Given the description of an element on the screen output the (x, y) to click on. 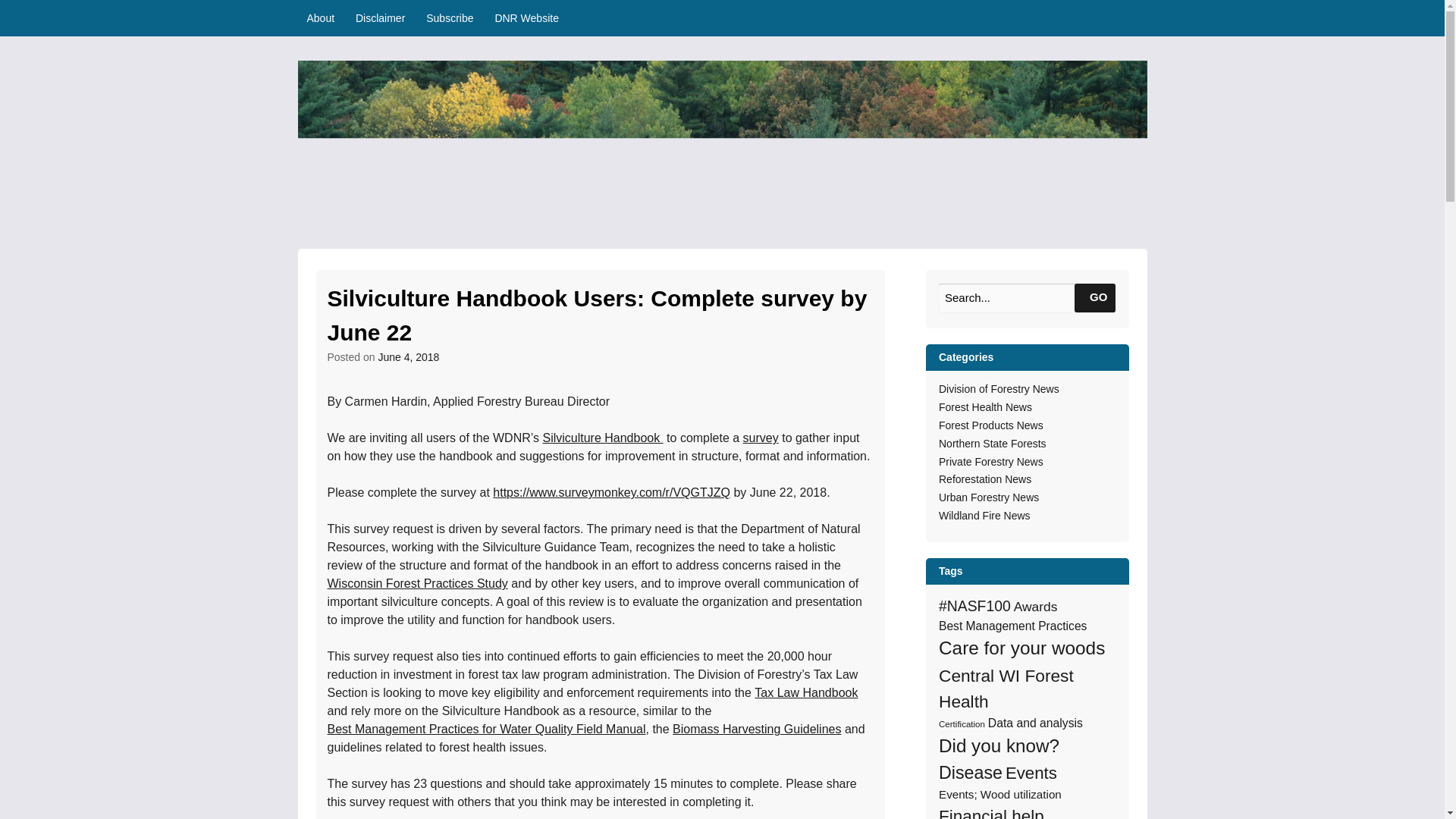
Forest Products News (991, 425)
June 4, 2018 (408, 357)
Subscribe (448, 18)
Northern State Forests (992, 443)
Submit your search term (1094, 297)
Best Management Practices (1012, 625)
Type search term here (1027, 297)
Wisconsin Forest Practices Study (417, 583)
Best Management Practices for Water Quality Field Manual (486, 729)
Disease (971, 773)
